Given the description of an element on the screen output the (x, y) to click on. 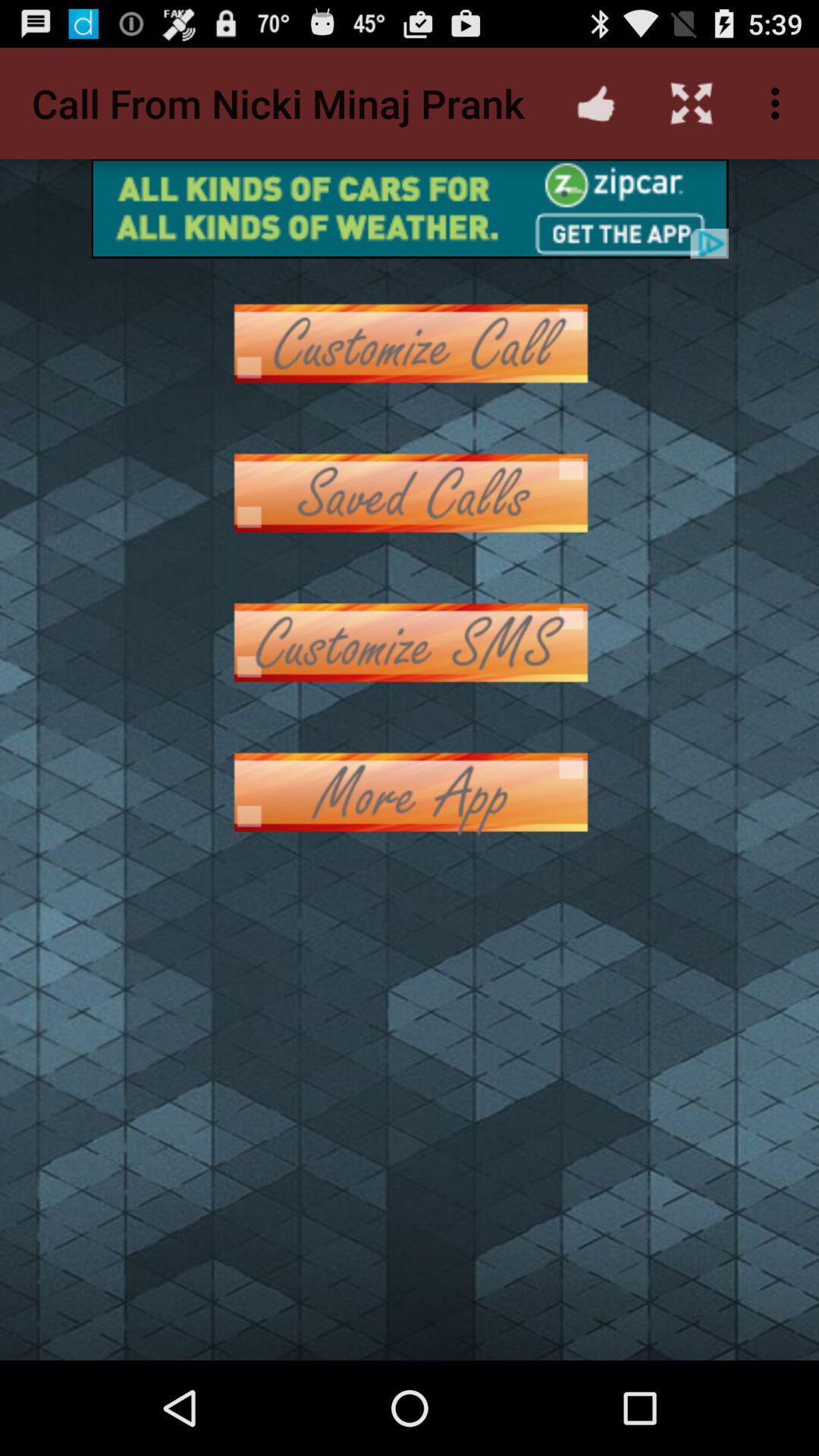
phone customer service (409, 642)
